Given the description of an element on the screen output the (x, y) to click on. 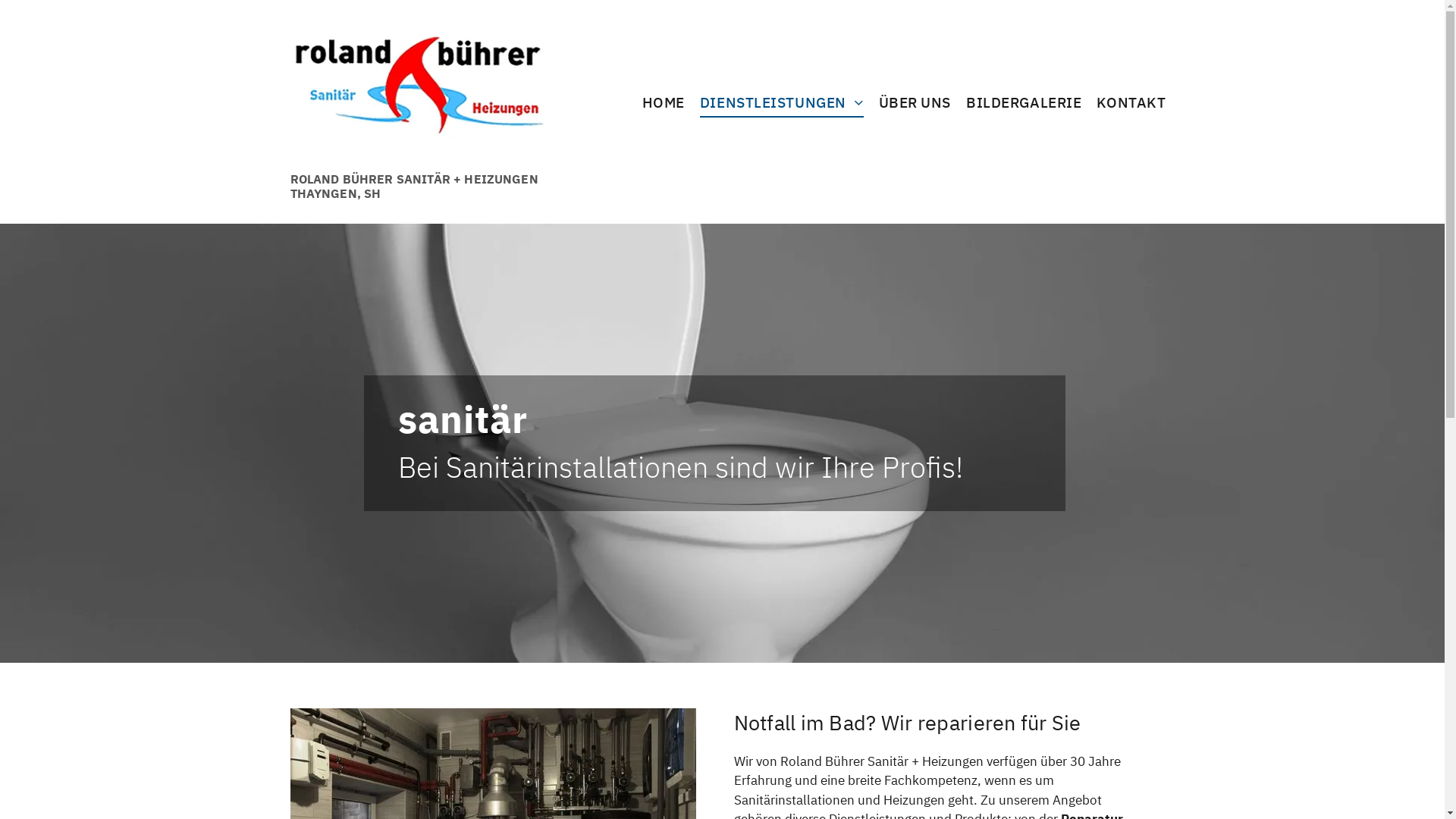
KONTAKT Element type: text (1130, 98)
HOME Element type: text (663, 98)
DIENSTLEISTUNGEN Element type: text (781, 98)
BILDERGALERIE Element type: text (1023, 98)
